Given the description of an element on the screen output the (x, y) to click on. 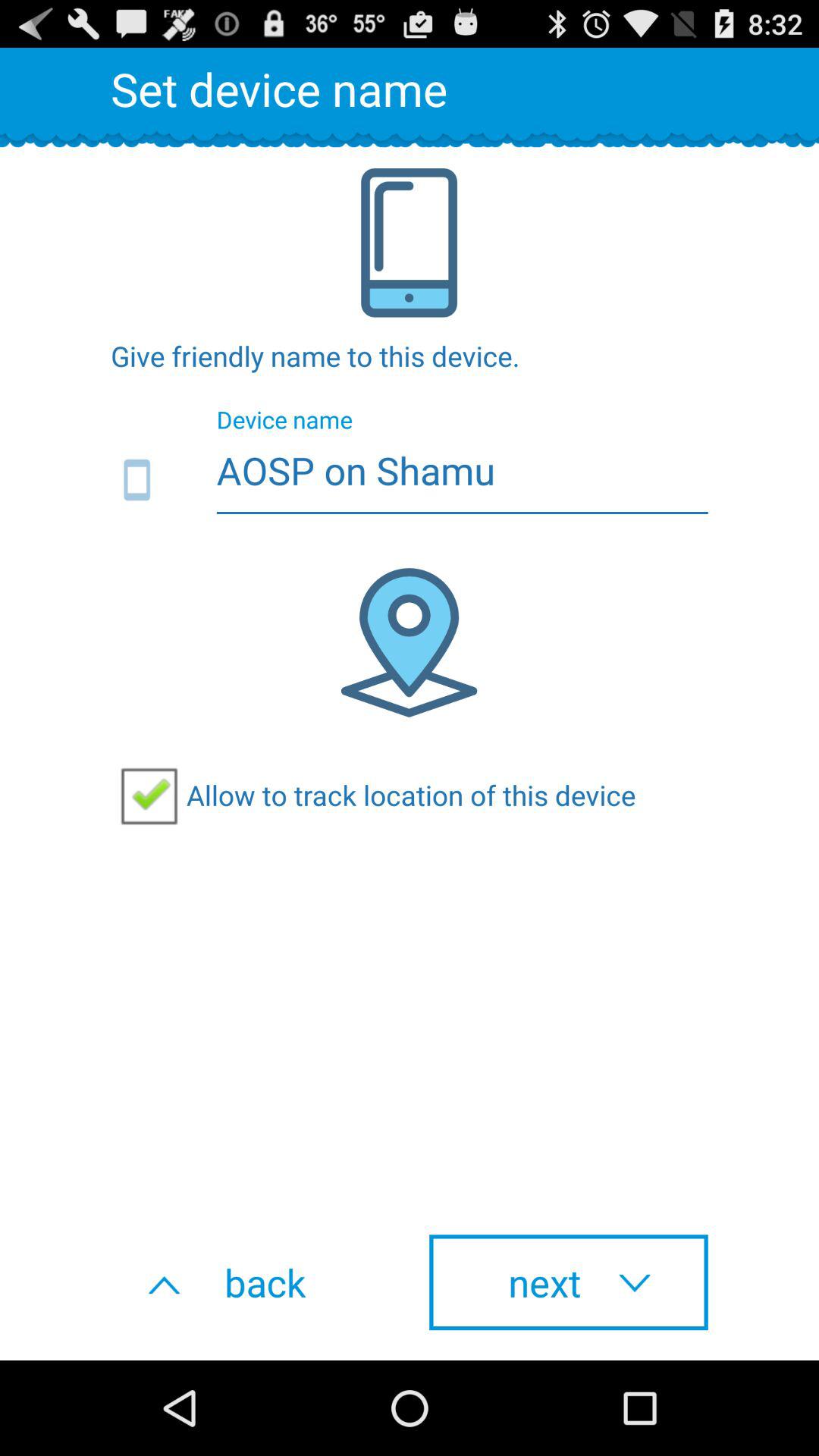
select the item below the give friendly name icon (409, 480)
